Given the description of an element on the screen output the (x, y) to click on. 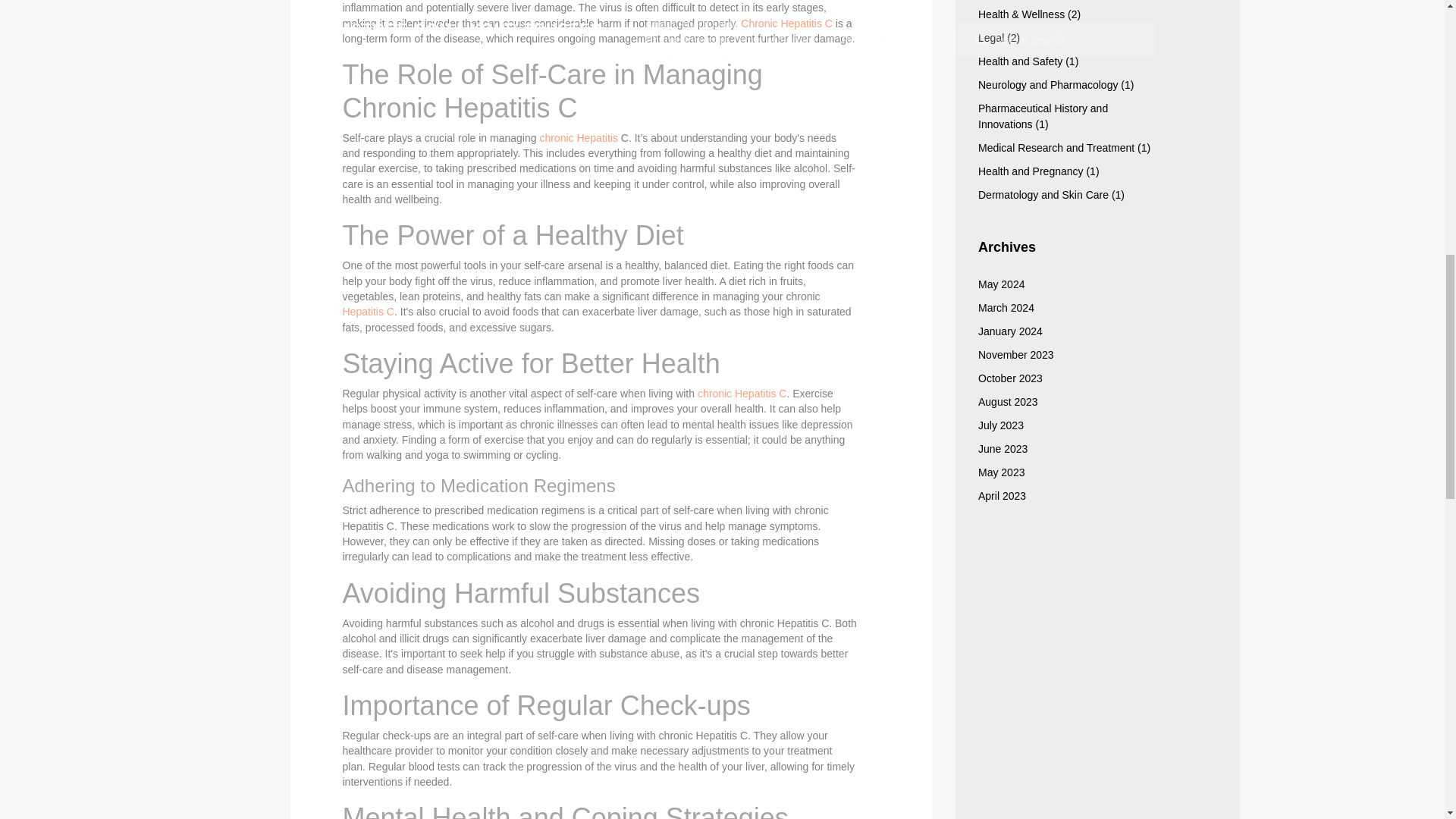
Hepatitis C (368, 311)
chronic Hepatitis (577, 137)
Symptom prevalence and clustering of symptoms in people ... (368, 311)
chronic Hepatitis C (742, 393)
Efficacy of a self-management program in patients with ... (577, 137)
Chronic Hepatitis C (786, 23)
How to Manage Chronic Hepatitis C-Related Nerve Pain (742, 393)
